Given the description of an element on the screen output the (x, y) to click on. 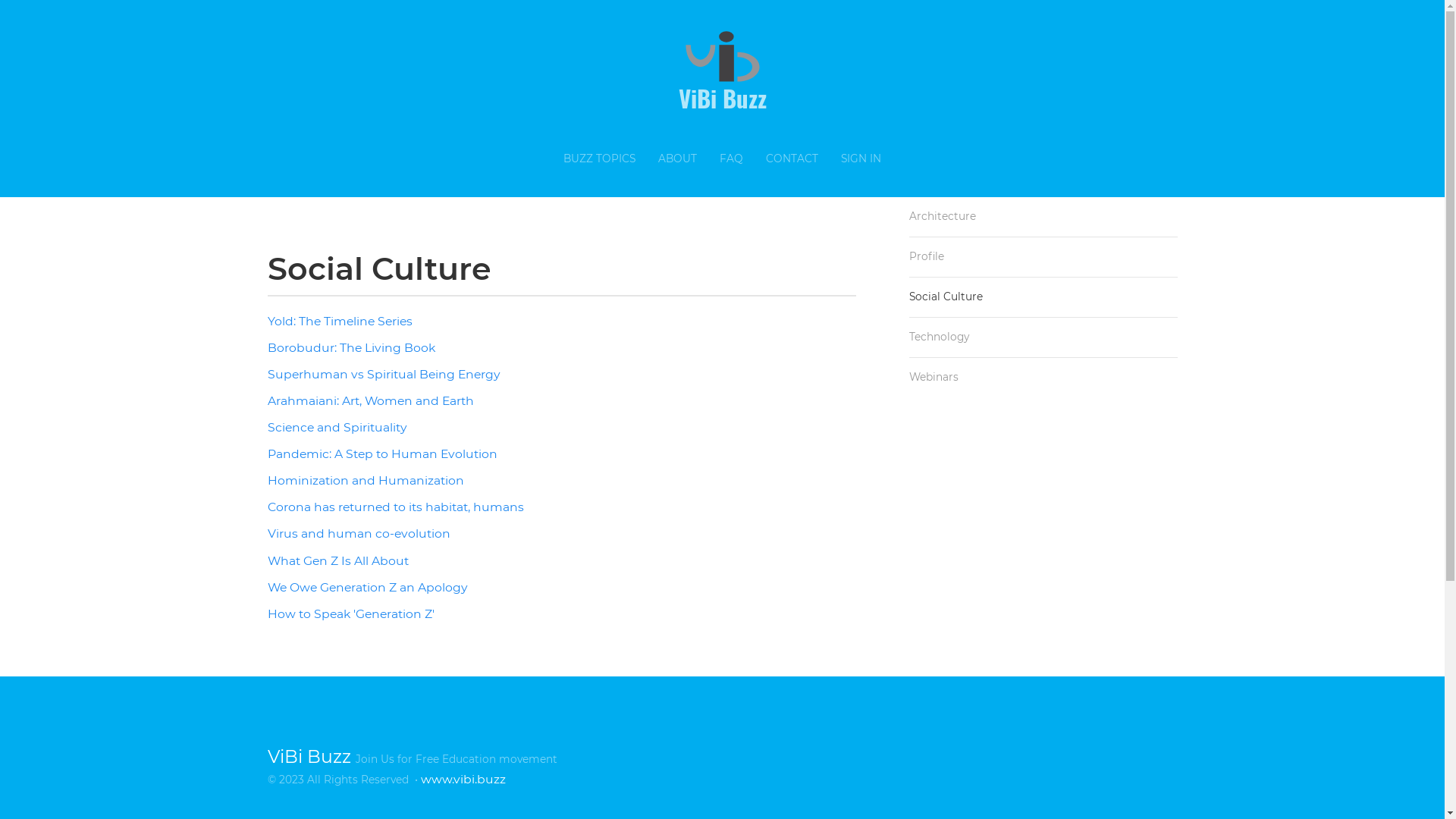
FAQ Element type: text (731, 158)
Superhuman vs Spiritual Being Energy Element type: text (382, 374)
Profile Element type: text (1042, 256)
Virus and human co-evolution Element type: text (357, 533)
BUZZ TOPICS Element type: text (599, 158)
Hominization and Humanization Element type: text (364, 480)
Arahmaiani: Art, Women and Earth Element type: text (369, 400)
How to Speak 'Generation Z' Element type: text (349, 613)
Webinars Element type: text (1042, 377)
Science and Spirituality Element type: text (336, 427)
Technology Element type: text (1042, 337)
Corona has returned to its habitat, humans Element type: text (394, 506)
What Gen Z Is All About Element type: text (336, 560)
www.vibi.buzz Element type: text (462, 778)
Yold: The Timeline Series Element type: text (338, 320)
Architecture Element type: text (1042, 216)
Social Culture Element type: text (1042, 297)
ABOUT Element type: text (677, 158)
Borobudur: The Living Book Element type: text (350, 347)
SIGN IN Element type: text (860, 158)
Pandemic: A Step to Human Evolution Element type: text (381, 453)
CONTACT Element type: text (791, 158)
We Owe Generation Z an Apology Element type: text (366, 587)
